Given the description of an element on the screen output the (x, y) to click on. 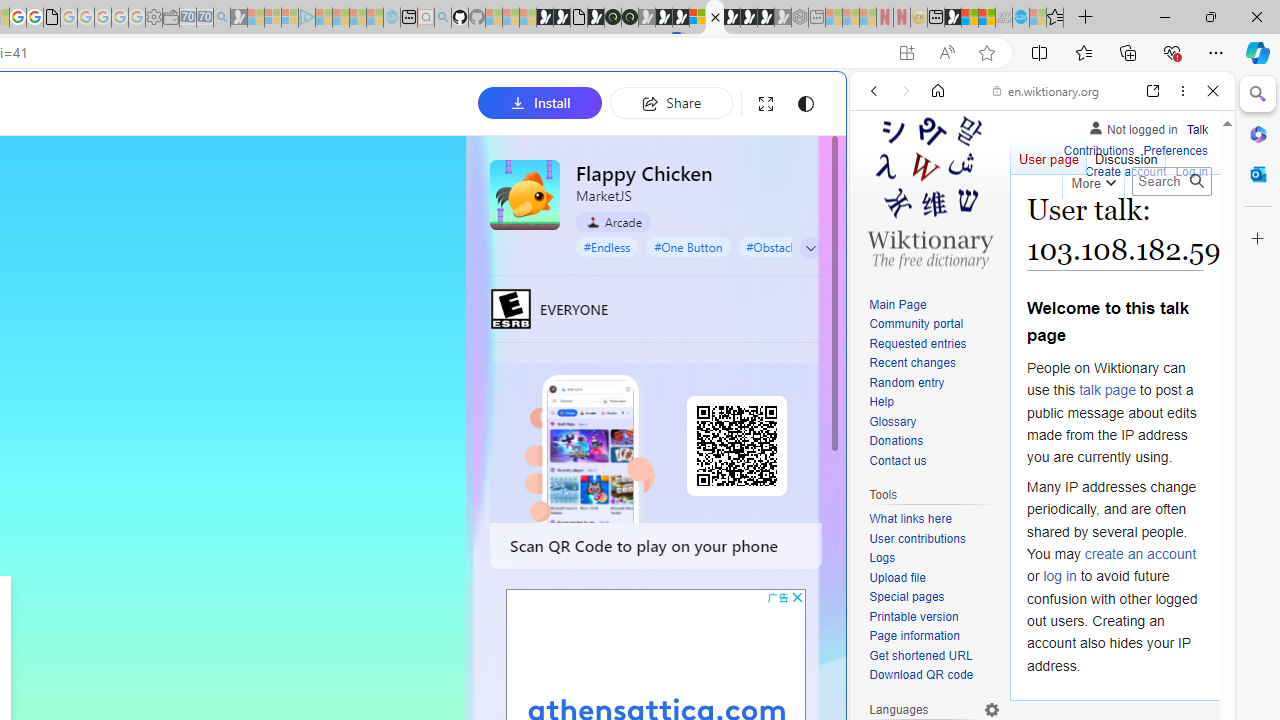
Page information (914, 636)
Printable version (934, 616)
Frequently visited (418, 265)
Community portal (916, 323)
#Endless (607, 246)
Language settings (992, 709)
Search Filter, Search Tools (1093, 228)
Help (934, 403)
Main Page (897, 303)
en.wiktionary.org (1046, 90)
